Given the description of an element on the screen output the (x, y) to click on. 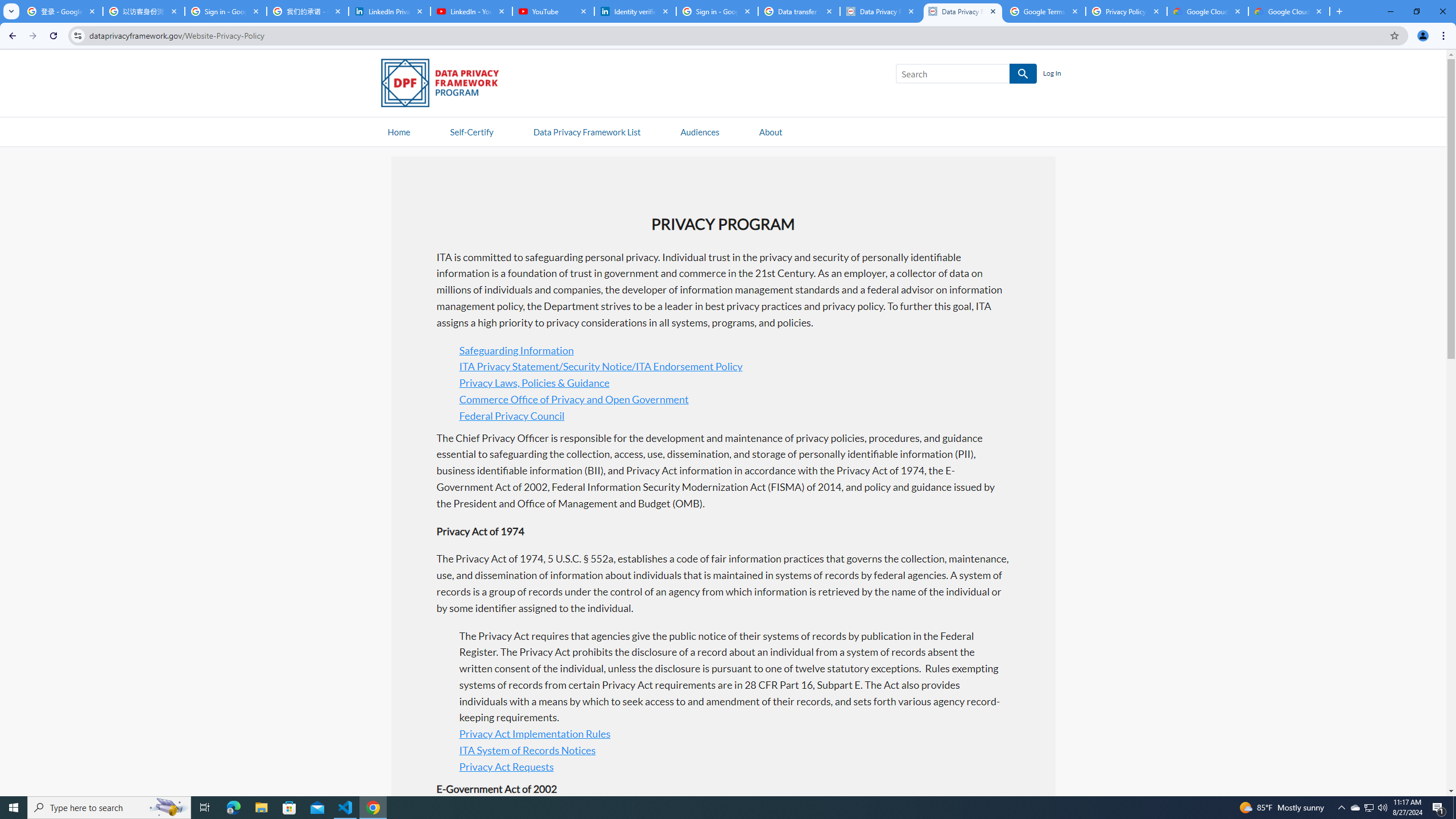
Sign in - Google Accounts (716, 11)
AutomationID: navitem2 (769, 131)
Data Privacy Framework (880, 11)
About (769, 131)
Data Privacy Framework List (586, 131)
